Given the description of an element on the screen output the (x, y) to click on. 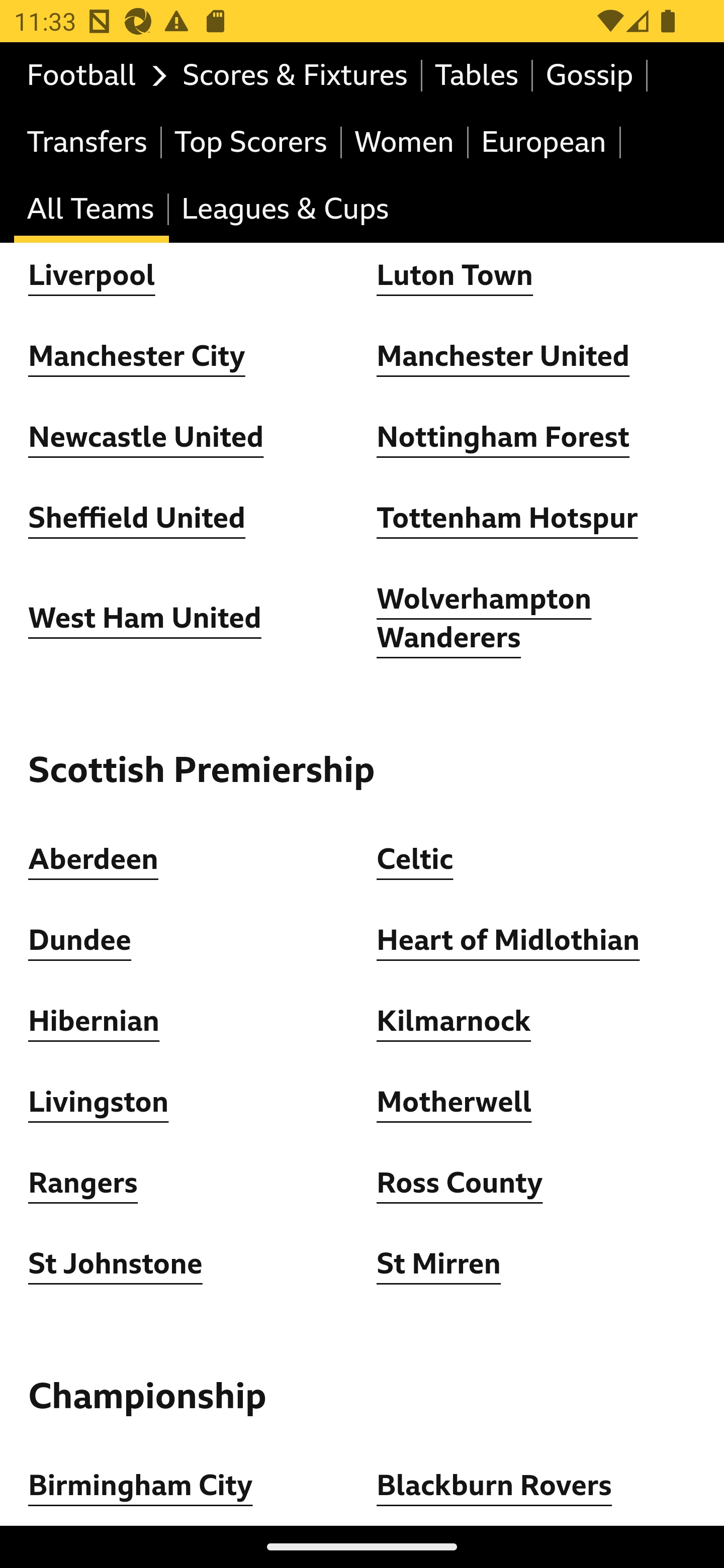
Liverpool (92, 275)
Luton Town (455, 275)
Manchester City (137, 356)
Manchester United (503, 356)
Newcastle United (146, 437)
Nottingham Forest (503, 437)
Sheffield United (137, 518)
Tottenham Hotspur (507, 518)
Wolverhampton Wanderers (484, 618)
West Ham United (145, 619)
Aberdeen (94, 860)
Celtic (414, 860)
Dundee (79, 940)
Heart of Midlothian (508, 940)
Hibernian (94, 1021)
Kilmarnock (453, 1021)
Livingston (99, 1102)
Motherwell (454, 1102)
Rangers (83, 1183)
Ross County (459, 1183)
St Johnstone (116, 1264)
St Mirren (438, 1264)
Birmingham City (140, 1486)
Blackburn Rovers (494, 1486)
